Given the description of an element on the screen output the (x, y) to click on. 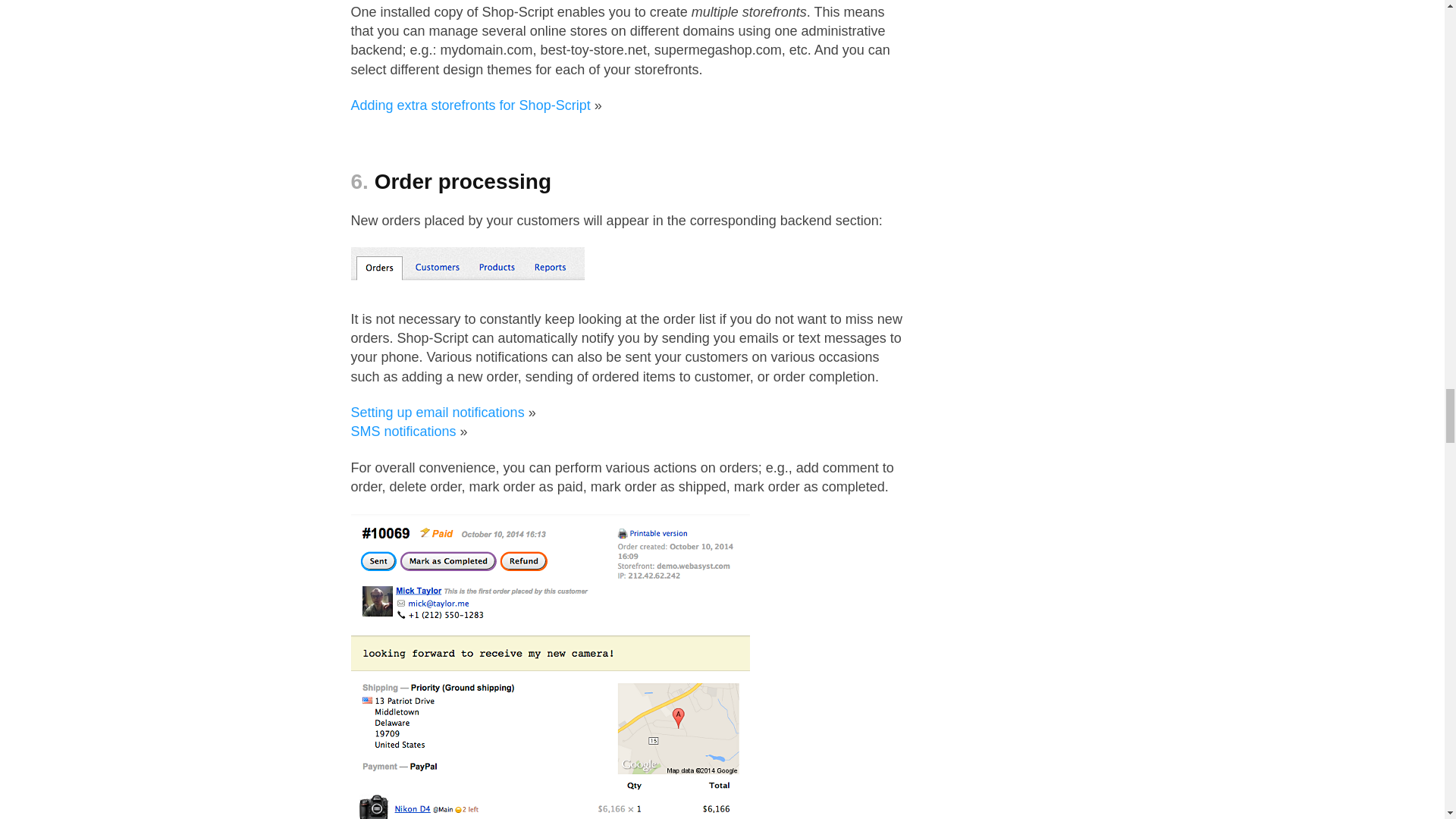
Setting up email notifications (437, 412)
SMS notifications (402, 431)
Adding extra storefronts for Shop-Script (469, 105)
